Given the description of an element on the screen output the (x, y) to click on. 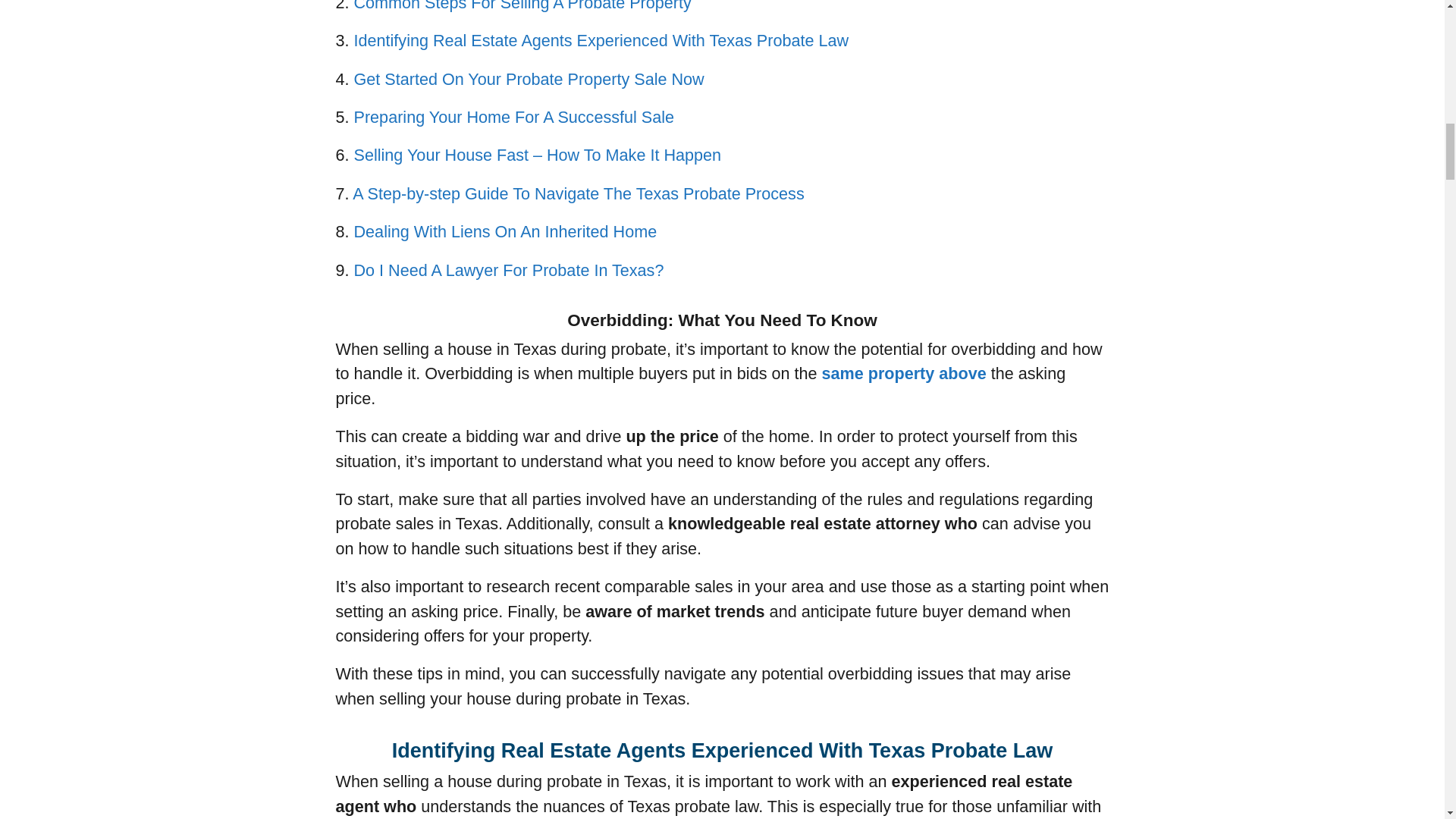
Common Steps For Selling A Probate Property (522, 6)
same property above (904, 373)
A Step-by-step Guide To Navigate The Texas Probate Process (577, 193)
Do I Need A Lawyer For Probate In Texas? (508, 270)
Preparing Your Home For A Successful Sale (514, 116)
Dealing With Liens On An Inherited Home (505, 230)
Get Started On Your Probate Property Sale Now (528, 78)
